Given the description of an element on the screen output the (x, y) to click on. 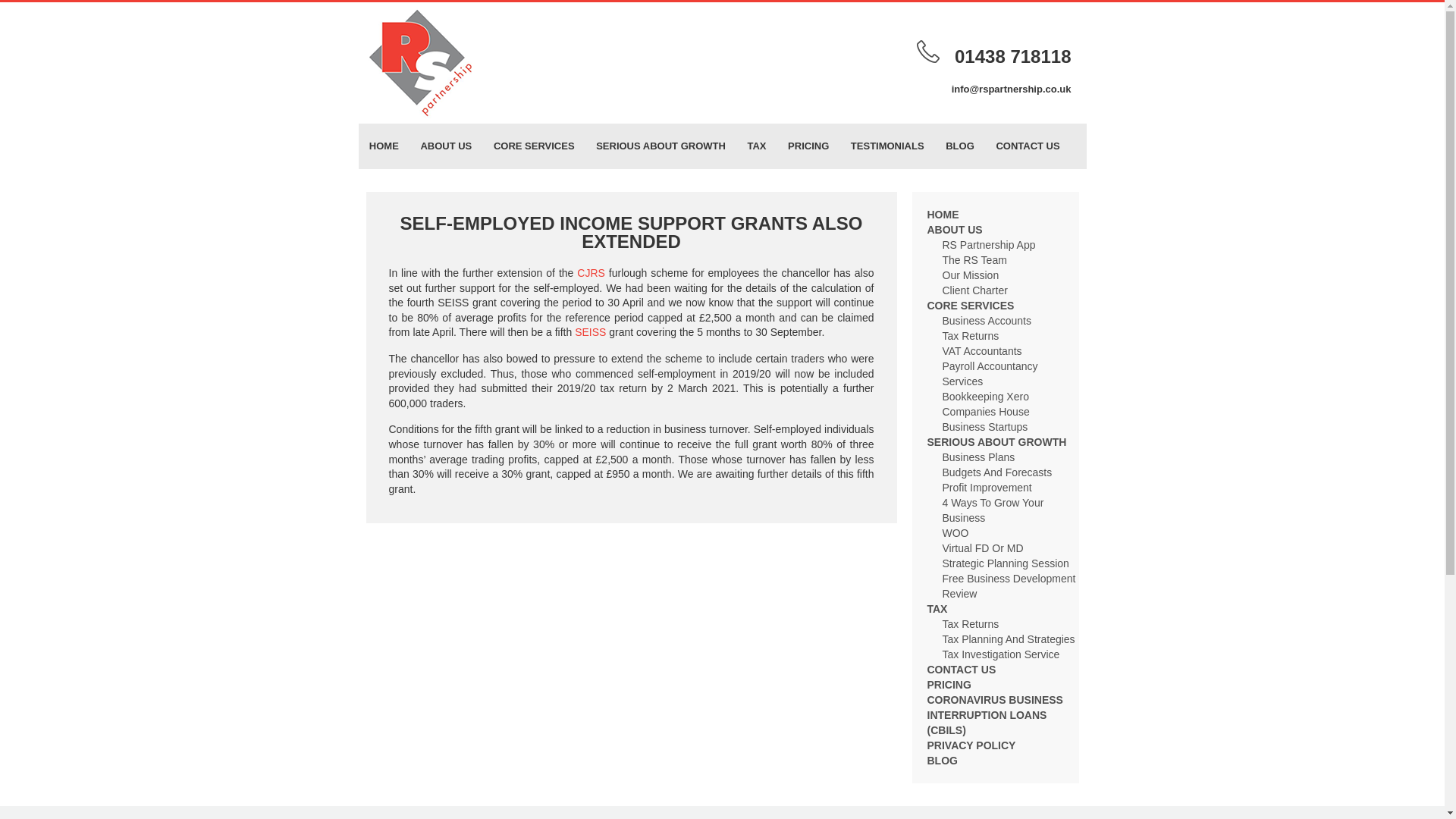
01438 718118 (1013, 55)
PRICING (808, 145)
TESTIMONIALS (887, 145)
ABOUT US (953, 229)
TAX (756, 145)
BLOG (959, 145)
CONTACT US (1027, 145)
CJRS (590, 272)
SEISS (590, 331)
SERIOUS ABOUT GROWTH (660, 145)
HOME (942, 214)
CORE SERVICES (534, 145)
HOME (383, 145)
ABOUT US (445, 145)
